Given the description of an element on the screen output the (x, y) to click on. 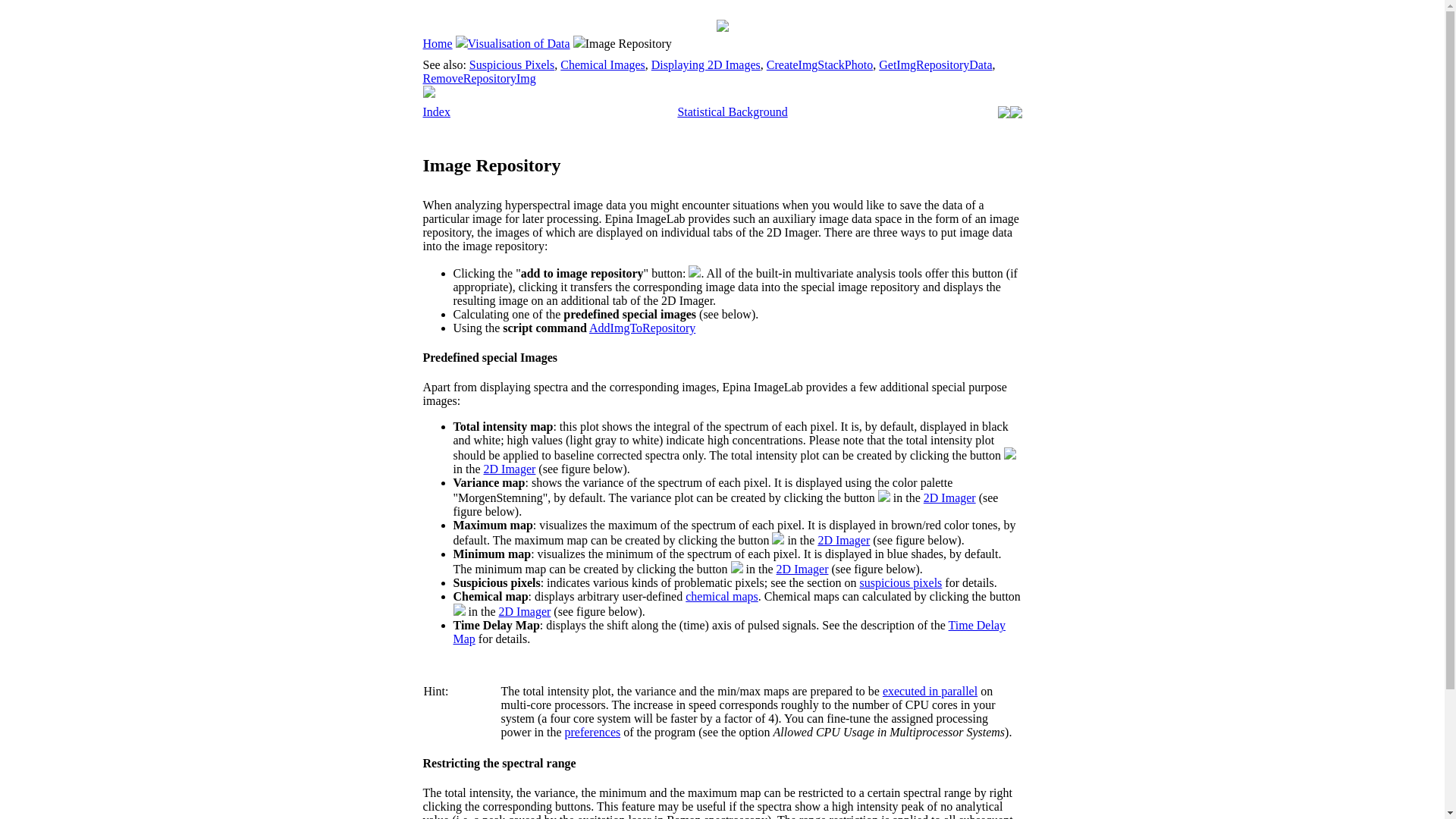
CreateImgStackPhoto (819, 64)
Statistical Background (732, 111)
Visualisation of Data (518, 42)
2D Imager (802, 568)
Suspicious Pixels (511, 64)
2D Imager (842, 540)
Displaying 2D Images (705, 64)
2D Imager (949, 497)
Time Delay Map (729, 632)
executed in parallel (929, 690)
preferences (592, 731)
Index (436, 111)
AddImgToRepository (642, 327)
RemoveRepositoryImg (479, 78)
Home (437, 42)
